Given the description of an element on the screen output the (x, y) to click on. 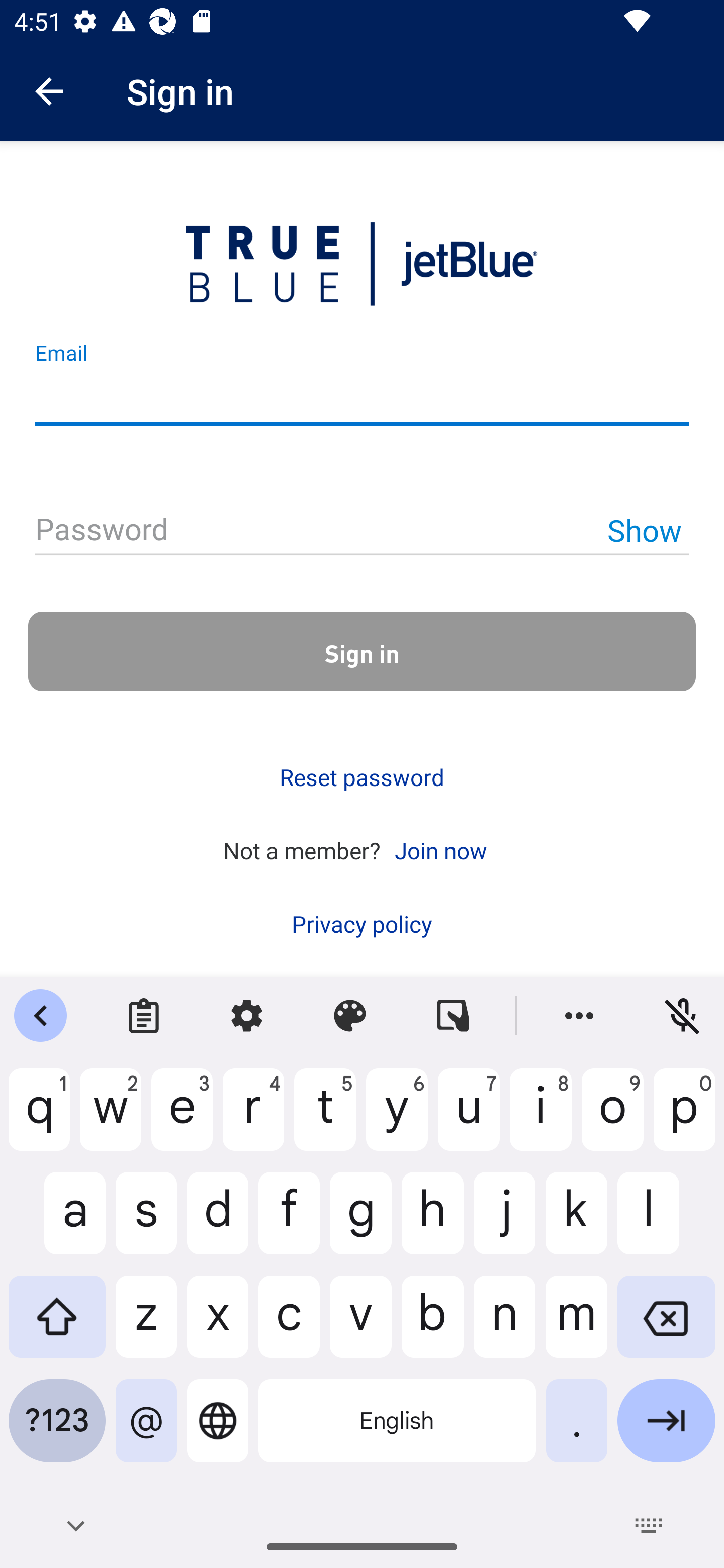
Navigate up (49, 91)
Email (361, 398)
Password (361, 530)
Show (643, 529)
Sign in (361, 651)
Reset password (361, 776)
Join now (440, 849)
Privacy policy (361, 923)
